Given the description of an element on the screen output the (x, y) to click on. 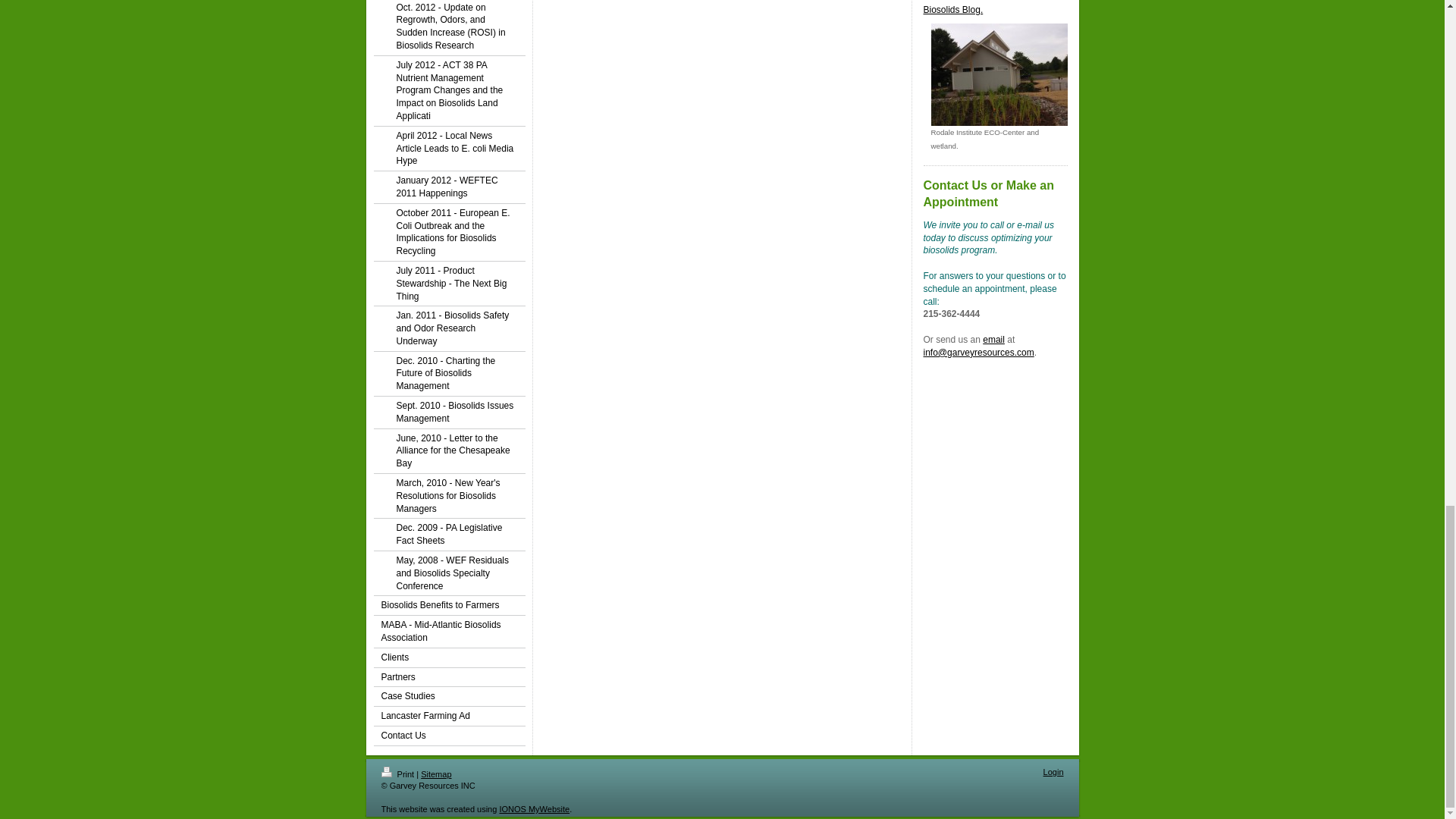
May, 2008 - WEF Residuals and Biosolids Specialty Conference (448, 573)
January 2012 - WEFTEC 2011 Happenings (448, 187)
Dec. 2009 - PA Legislative Fact Sheets (448, 534)
July 2011 - Product Stewardship - The Next Big Thing (448, 283)
April 2012 - Local News Article Leads to E. coli Media Hype (448, 148)
Sept. 2010 - Biosolids Issues Management (448, 412)
March, 2010 - New Year's Resolutions for Biosolids Managers (448, 496)
Rodale Institute ECO-Center and wetland. (999, 80)
June, 2010 - Letter to the Alliance for the Chesapeake Bay (448, 451)
Jan. 2011 - Biosolids Safety and Odor Research Underway (448, 328)
Dec. 2010 - Charting the Future of Biosolids Management (448, 374)
